Given the description of an element on the screen output the (x, y) to click on. 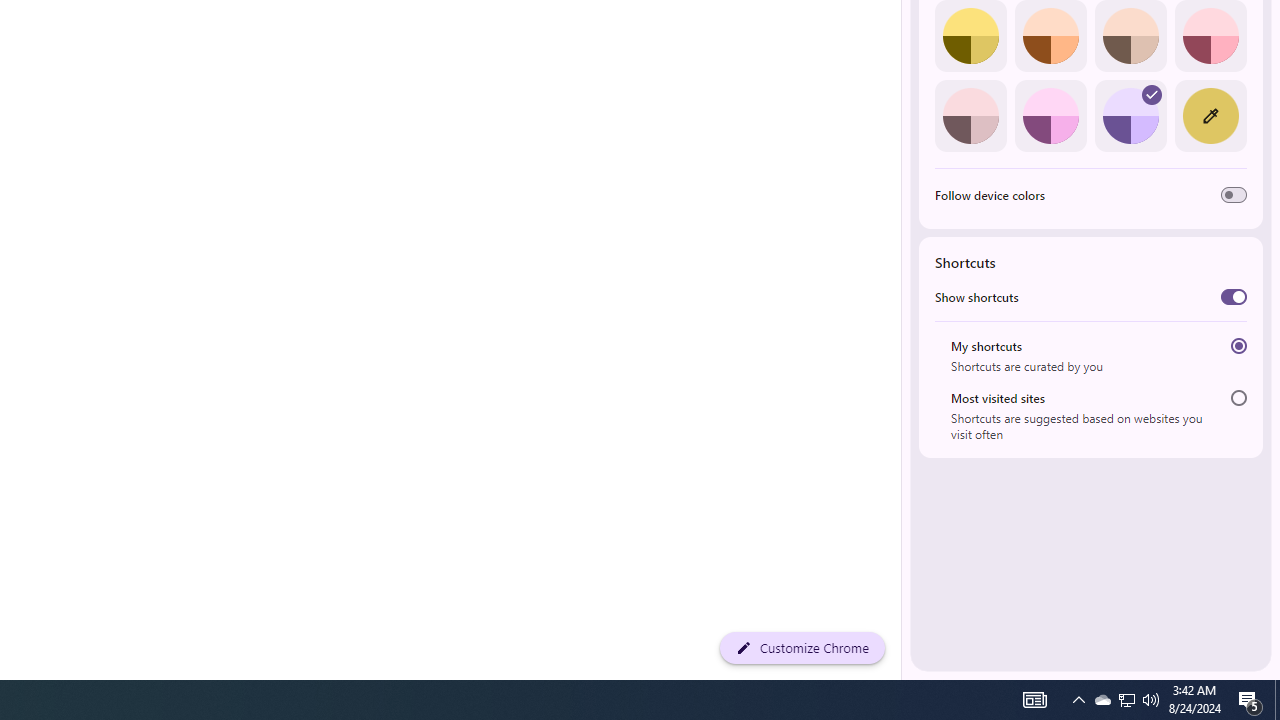
Follow device colors (1233, 195)
